Given the description of an element on the screen output the (x, y) to click on. 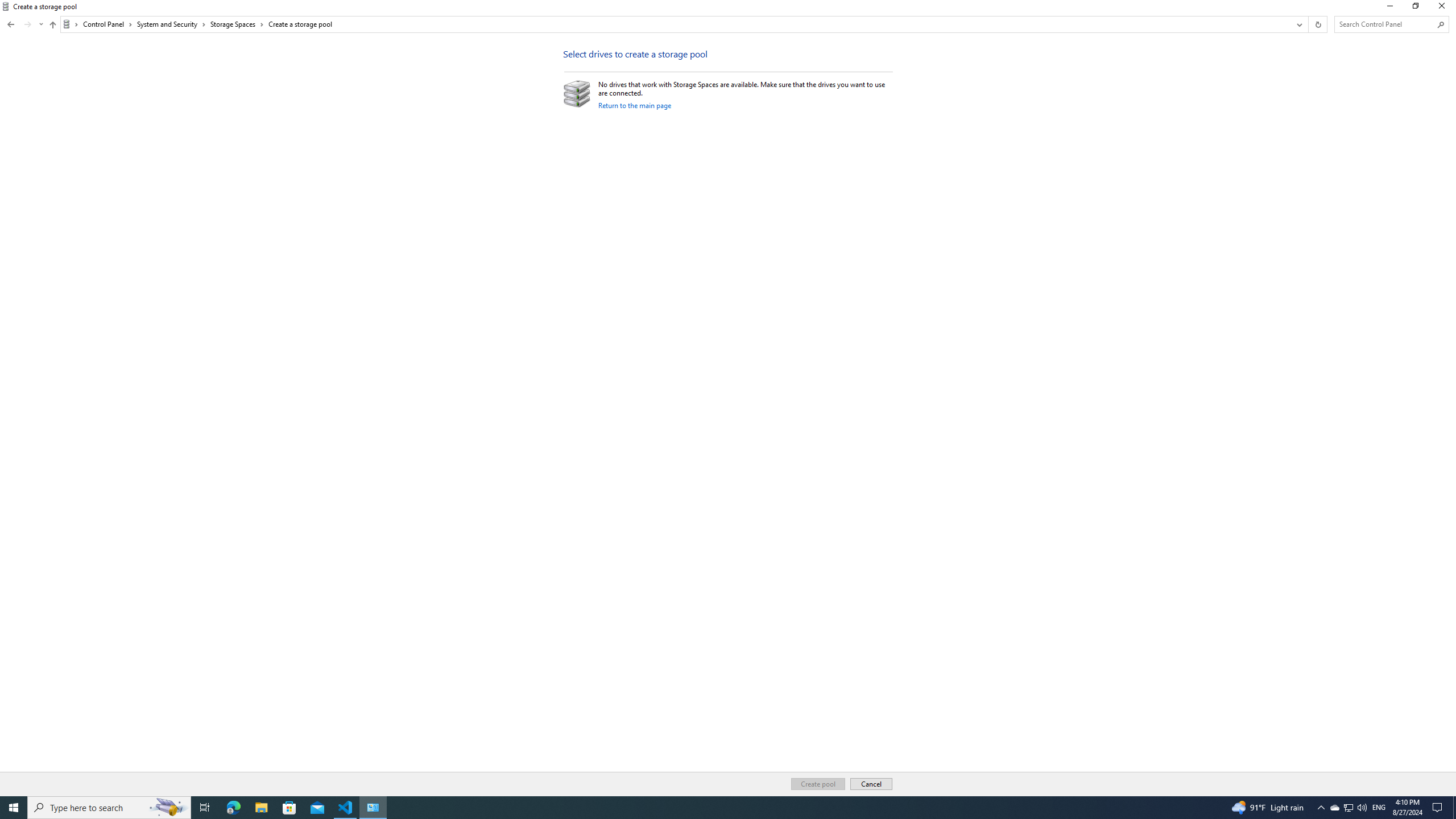
Forward (Alt + Right Arrow) (27, 23)
Search (1441, 24)
Refresh "Create a storage pool" (F5) (1316, 23)
Previous Locations (1298, 23)
Control Panel (107, 23)
Storage Spaces (237, 23)
Minimize (1388, 8)
Address band toolbar (1308, 23)
Return to the main page (634, 105)
Back to Storage Spaces (Alt + Left Arrow) (10, 23)
Up to "Storage Spaces" (Alt + Up Arrow) (52, 24)
All locations (70, 23)
